Given the description of an element on the screen output the (x, y) to click on. 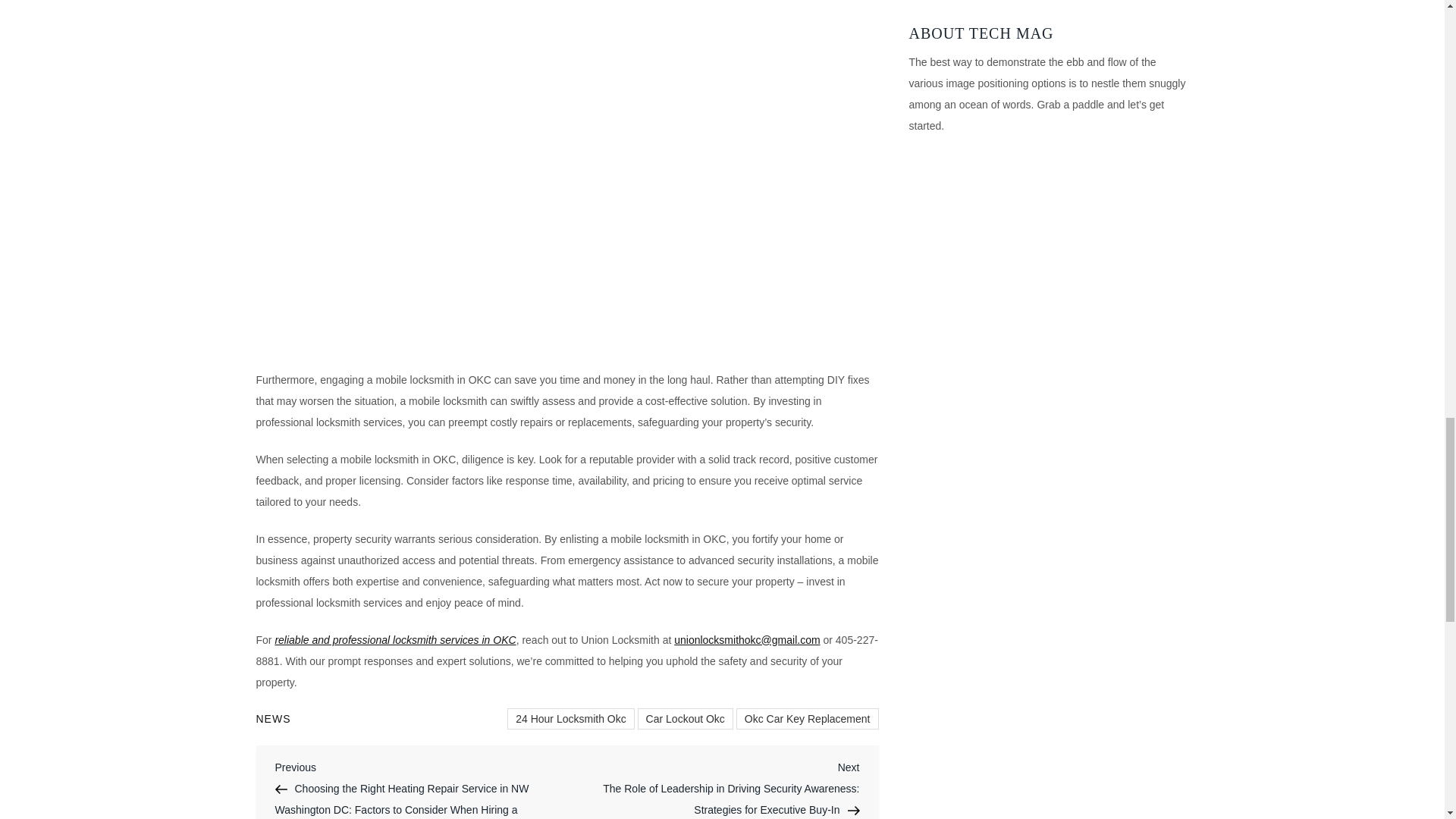
NEWS (273, 718)
Car Lockout Okc (685, 718)
24 Hour Locksmith Okc (570, 718)
reliable and professional locksmith services in OKC (395, 639)
Okc Car Key Replacement (807, 718)
